Given the description of an element on the screen output the (x, y) to click on. 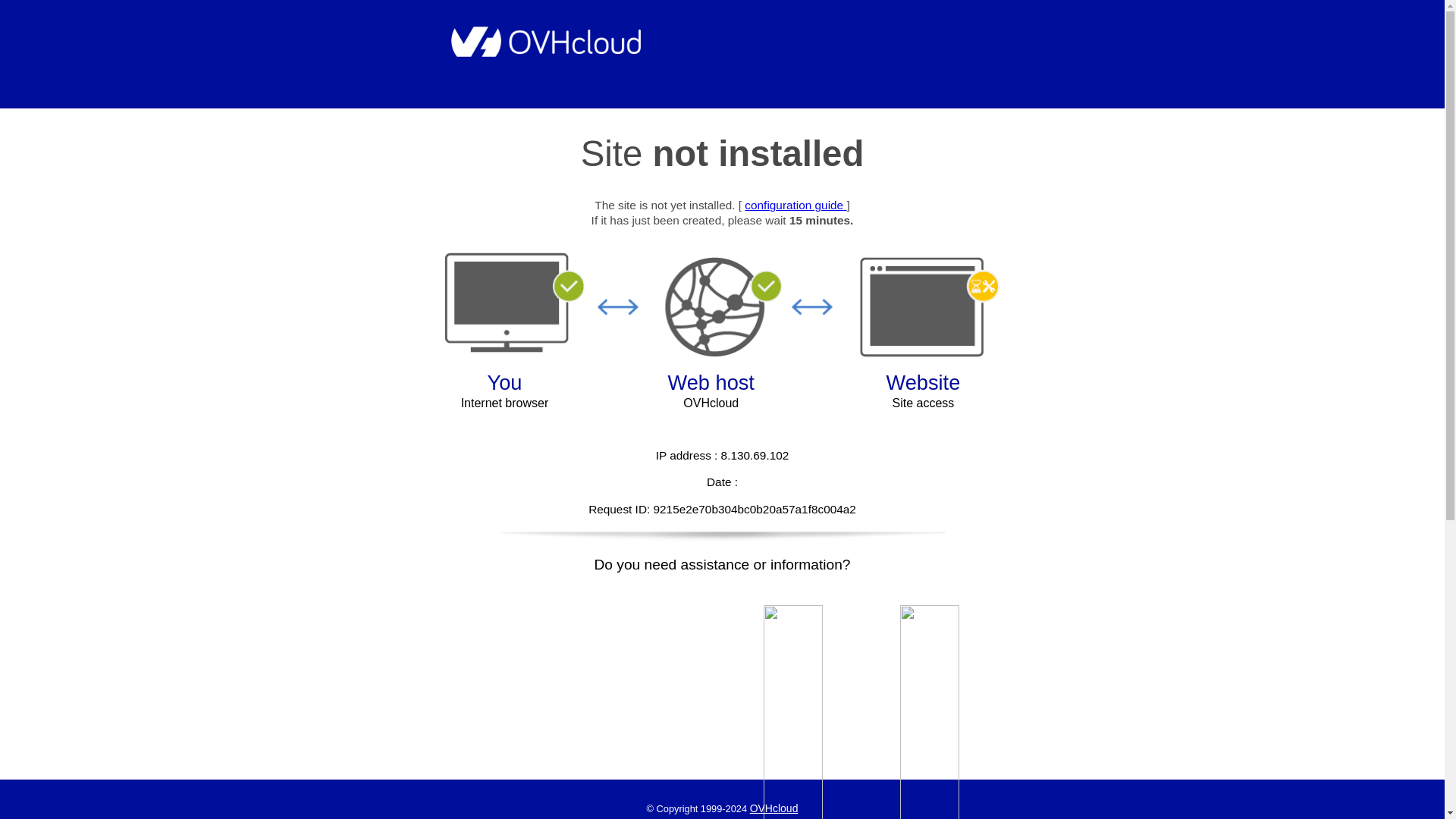
Contact (793, 712)
configuration guide (794, 205)
Guides (794, 205)
Control Panel (930, 712)
Contact (793, 712)
Control Panel (930, 712)
OVHcloud (773, 808)
